Given the description of an element on the screen output the (x, y) to click on. 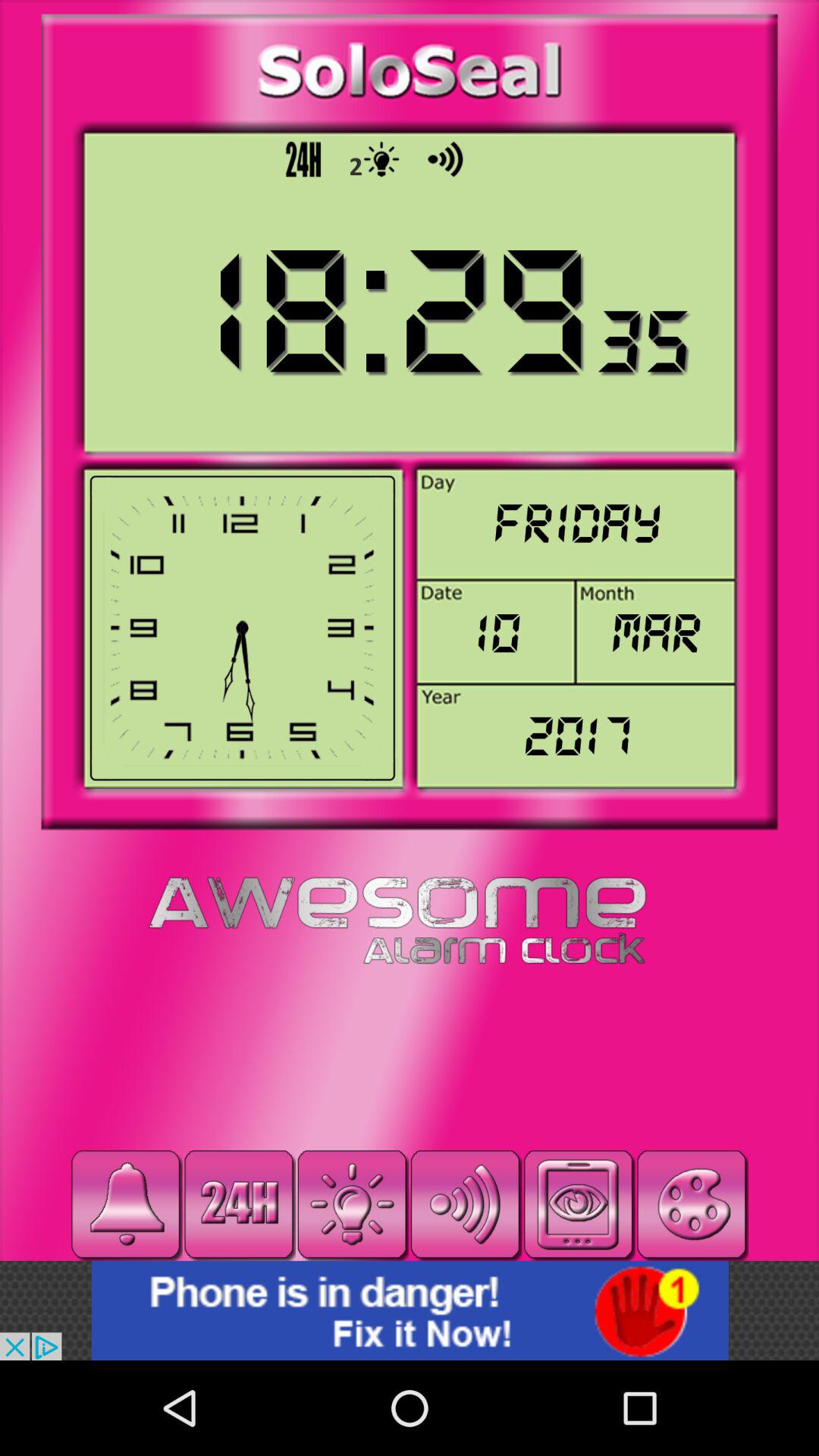
select option (578, 1203)
